Given the description of an element on the screen output the (x, y) to click on. 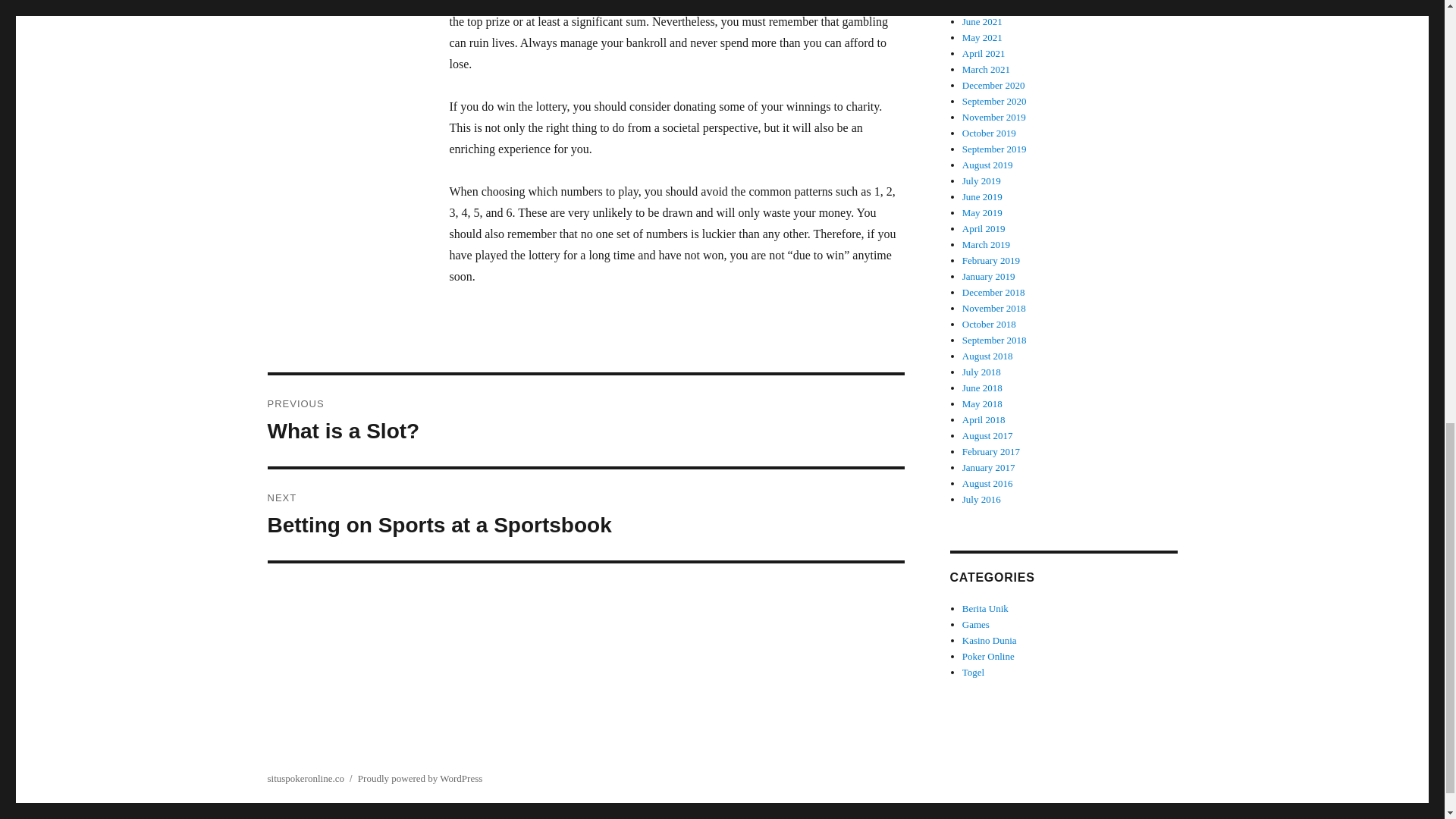
Games (585, 420)
Berita Unik (976, 624)
